Given the description of an element on the screen output the (x, y) to click on. 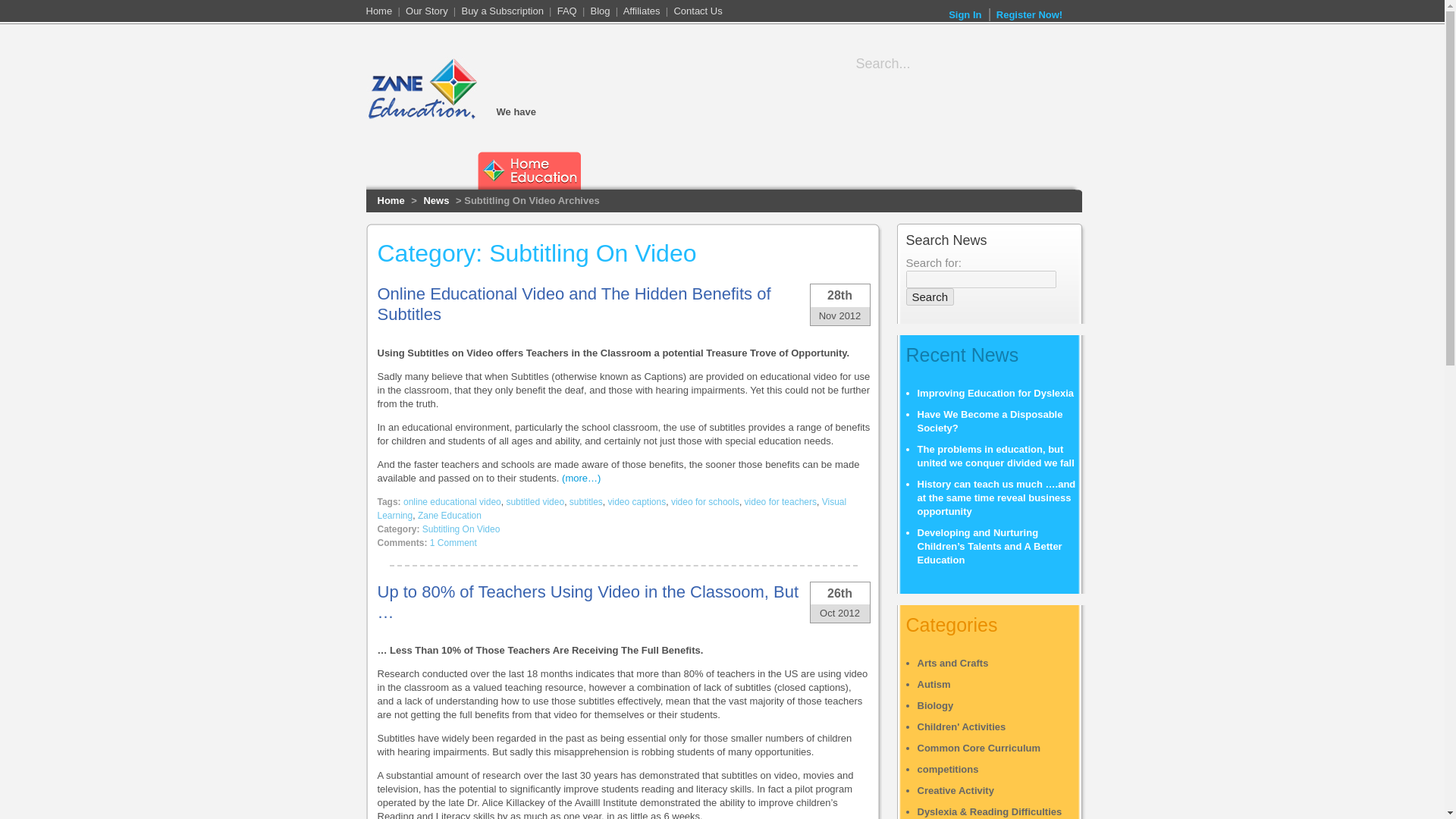
Search... (947, 63)
video for teachers (780, 501)
Subtitling On Video (461, 529)
Search (929, 296)
Zane Extra Curriculum (740, 170)
Zane Education (449, 515)
Study Centre (1018, 137)
Sign In (965, 15)
News (435, 200)
subtitles (585, 501)
1 Comment (453, 542)
Go (1063, 63)
Home (378, 10)
online educational video (451, 501)
